Given the description of an element on the screen output the (x, y) to click on. 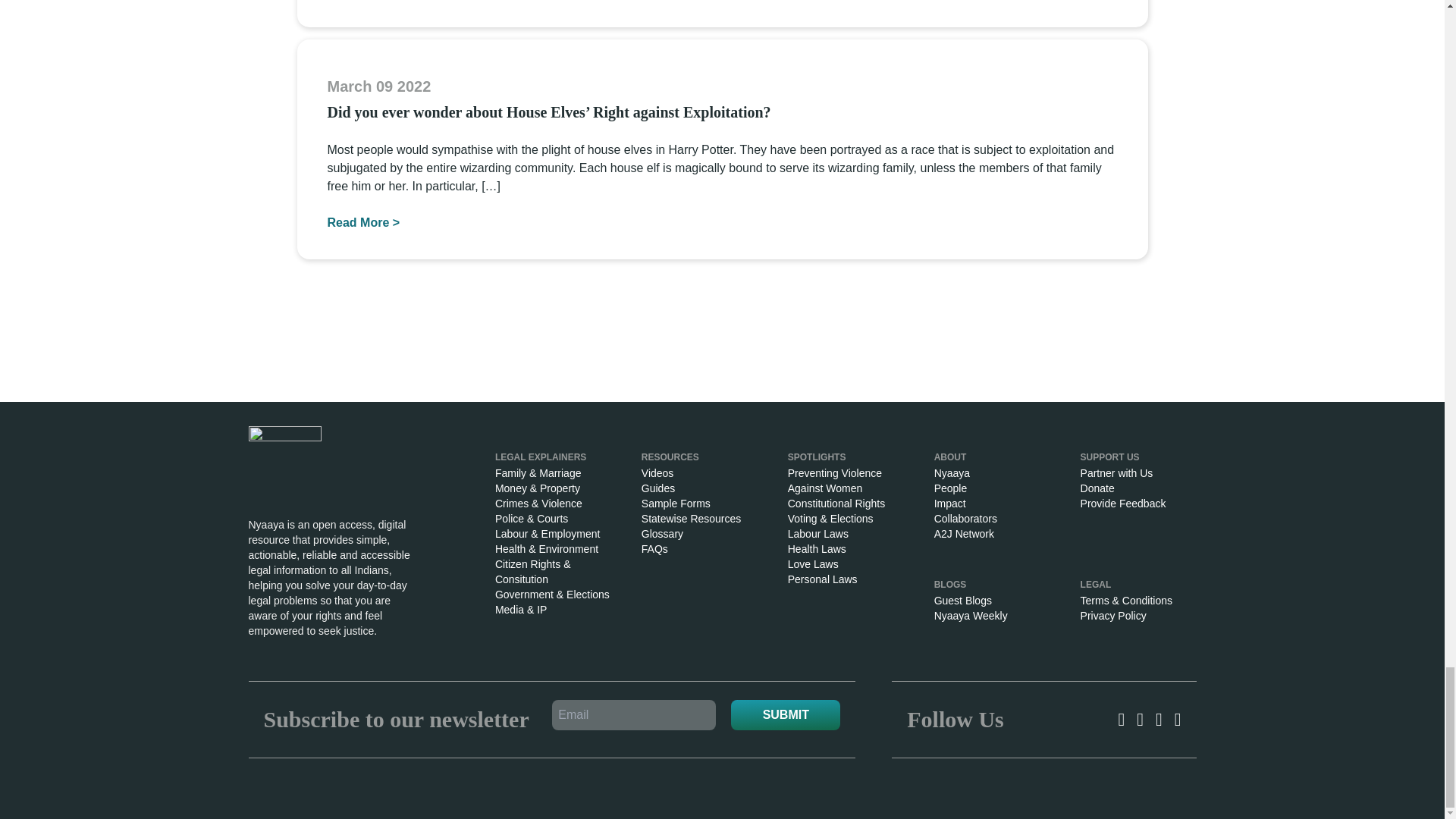
Submit (785, 715)
